Given the description of an element on the screen output the (x, y) to click on. 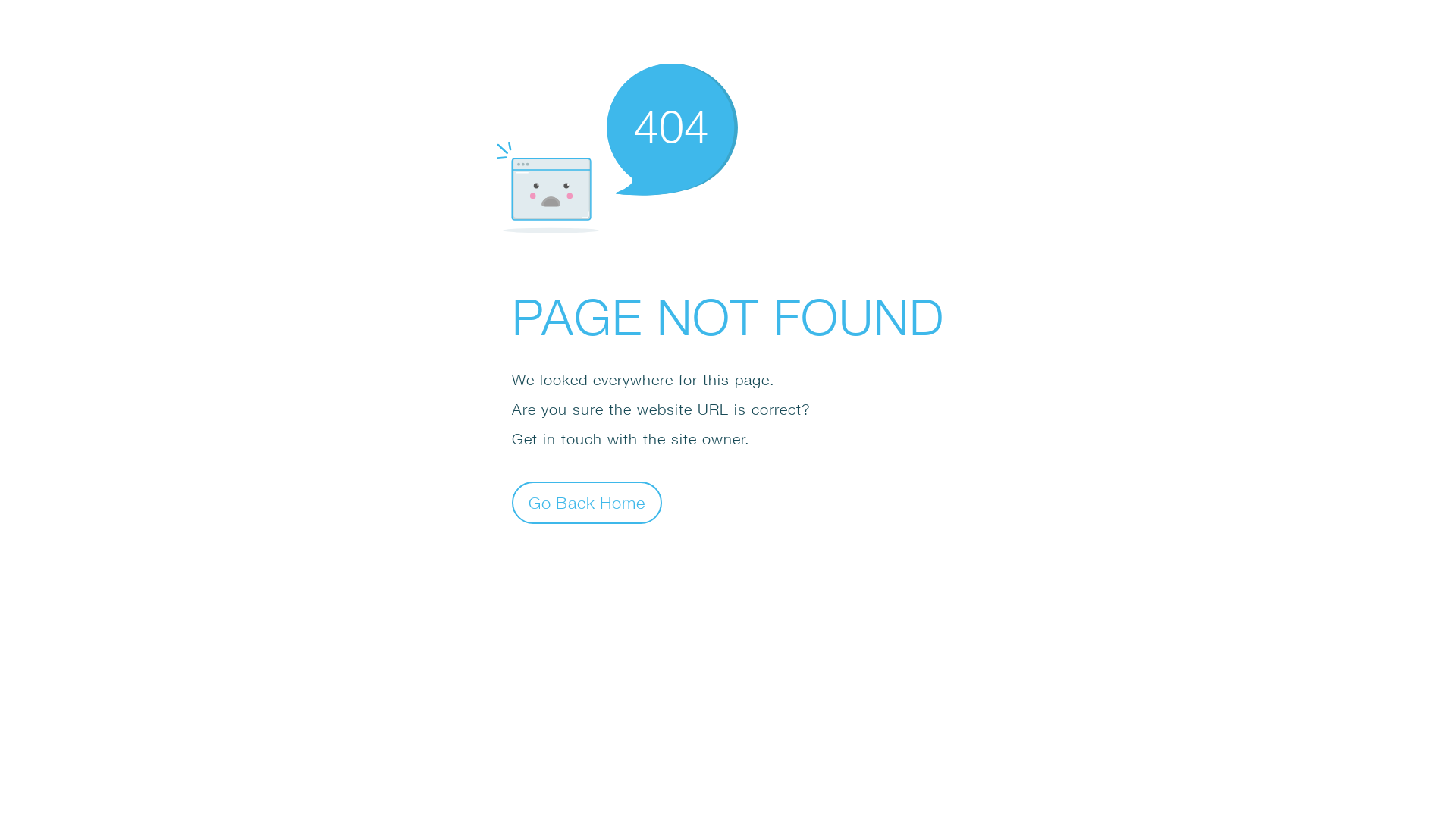
Go Back Home Element type: text (586, 502)
